Given the description of an element on the screen output the (x, y) to click on. 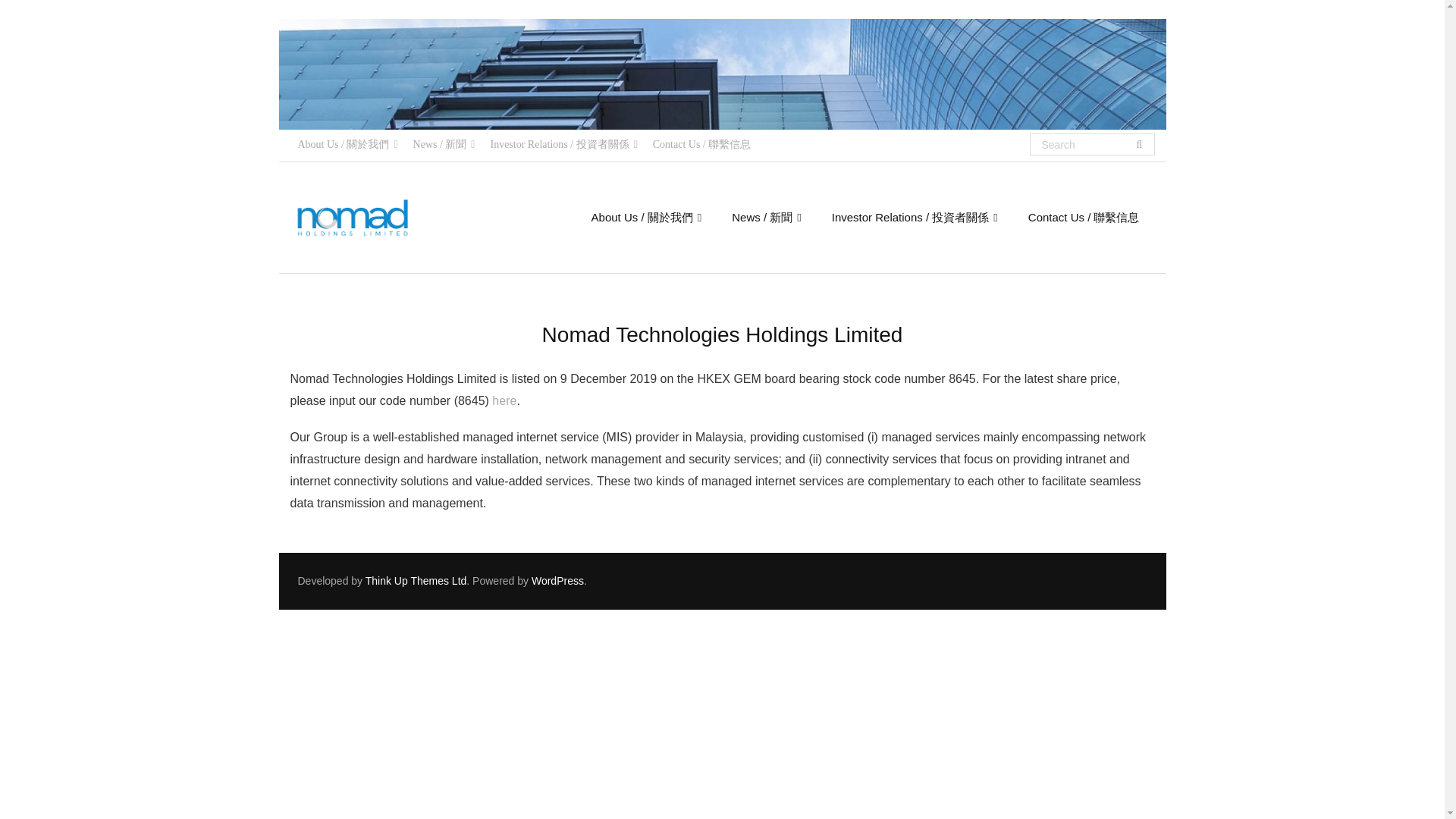
WordPress (557, 580)
Search (37, 17)
Think Up Themes Ltd (416, 580)
here (504, 400)
